Given the description of an element on the screen output the (x, y) to click on. 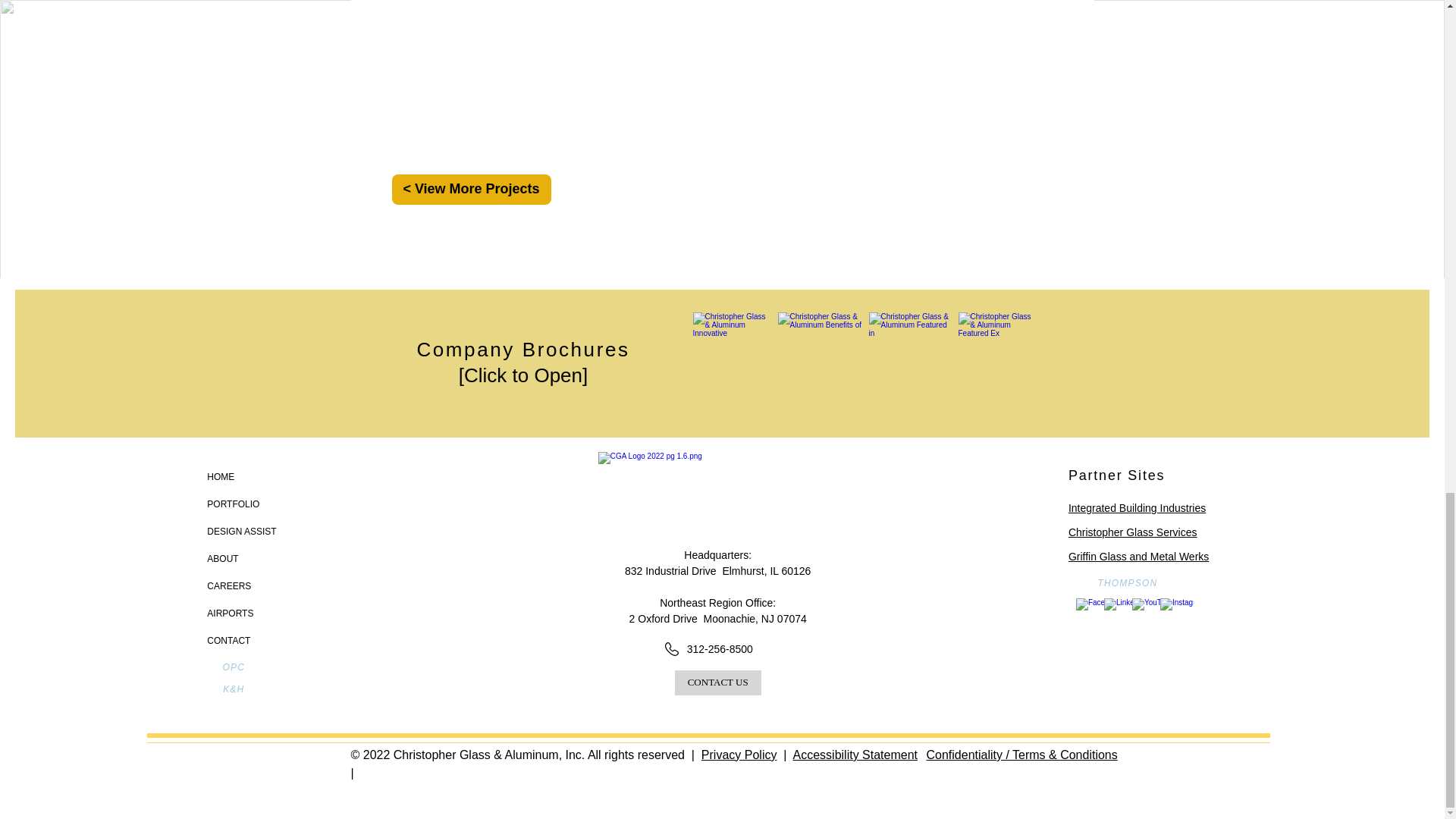
DESIGN ASSIST (280, 531)
PORTFOLIO (280, 503)
Company Brochures (522, 349)
HOME (280, 476)
ABOUT (280, 558)
